Given the description of an element on the screen output the (x, y) to click on. 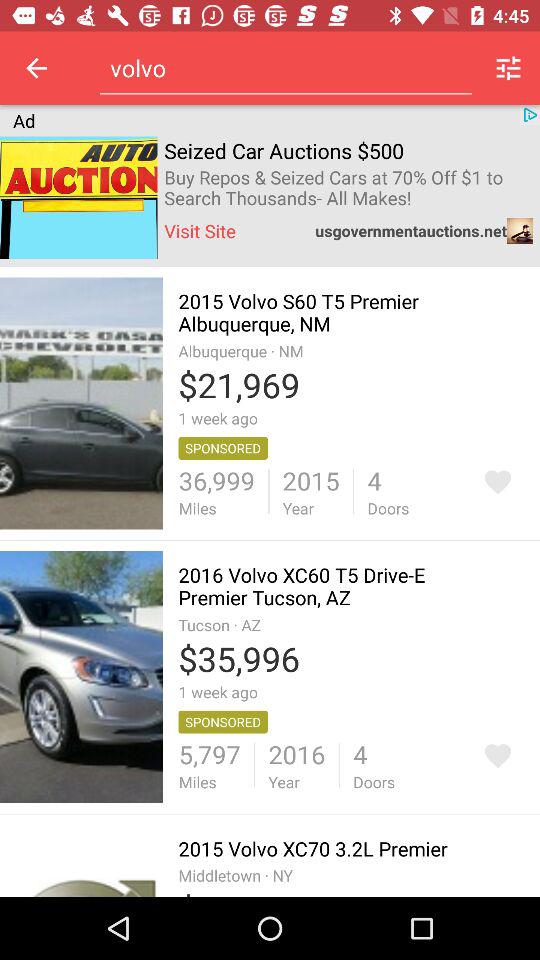
scroll left button (36, 68)
